Given the description of an element on the screen output the (x, y) to click on. 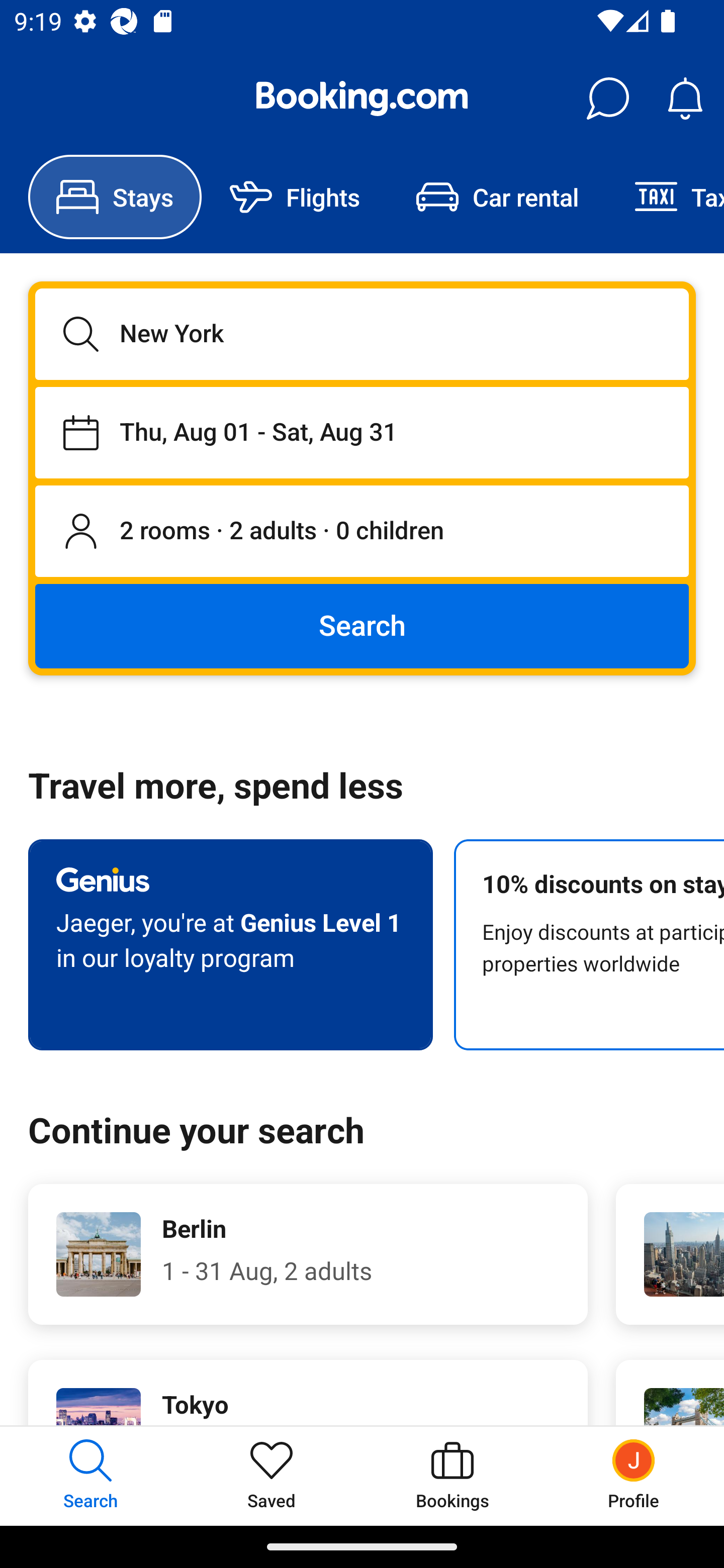
Messages (607, 98)
Notifications (685, 98)
Stays (114, 197)
Flights (294, 197)
Car rental (497, 197)
Taxi (665, 197)
New York (361, 333)
Staying from Thu, Aug 01 until Sat, Aug 31 (361, 432)
2 rooms, 2 adults, 0 children (361, 531)
Search (361, 625)
Berlin 1 - 31 Aug, 2 adults (307, 1253)
Saved (271, 1475)
Bookings (452, 1475)
Profile (633, 1475)
